Given the description of an element on the screen output the (x, y) to click on. 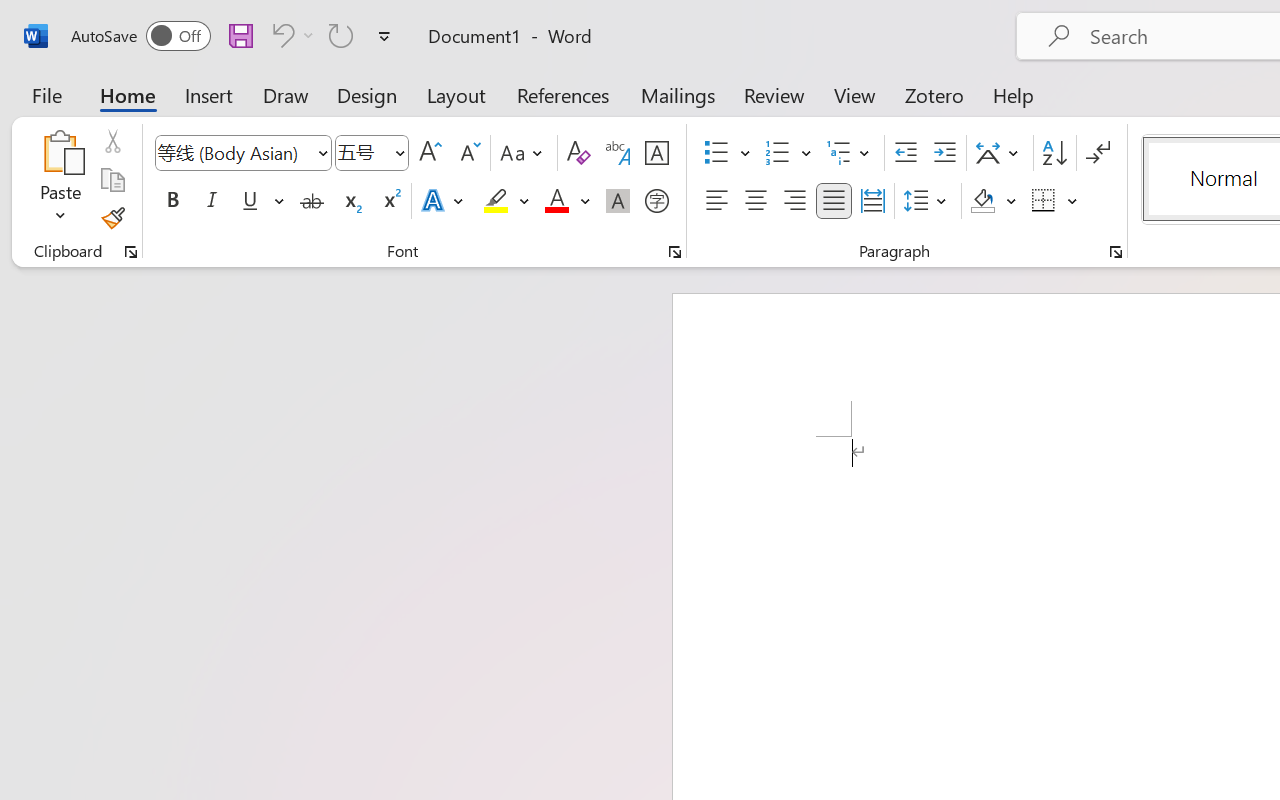
Can't Undo (290, 35)
